Given the description of an element on the screen output the (x, y) to click on. 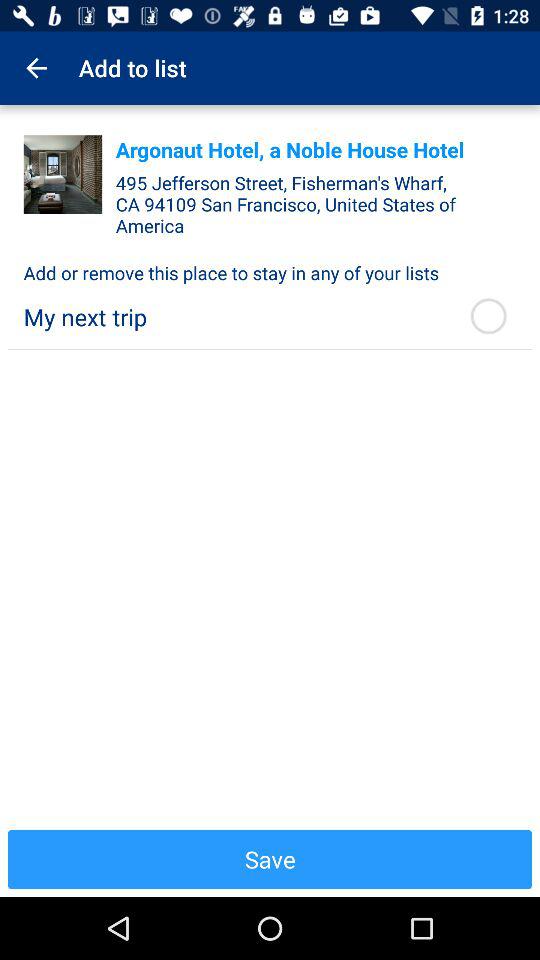
turn on item to the left of add to list app (36, 68)
